Given the description of an element on the screen output the (x, y) to click on. 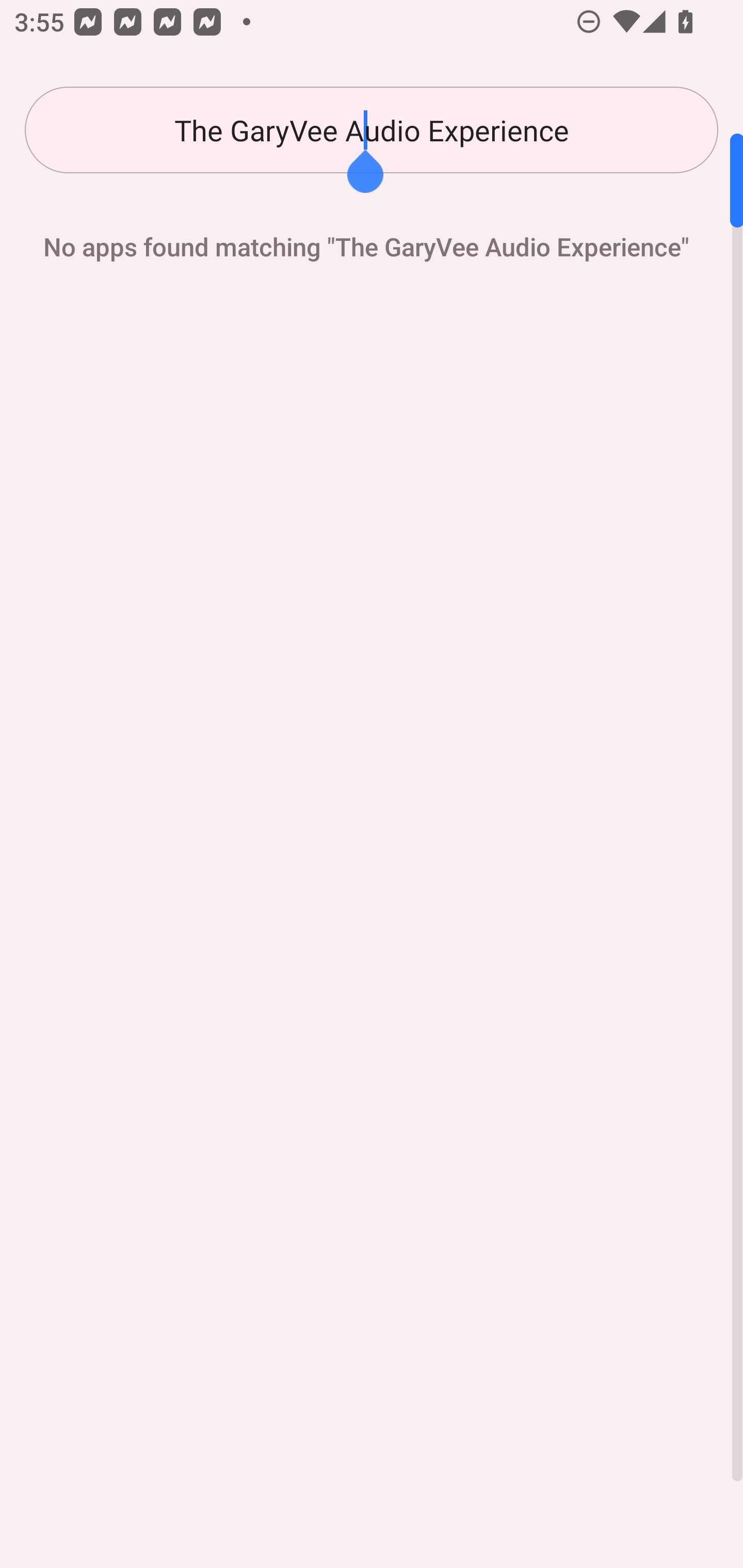
The GaryVee Audio Experience (371, 130)
